Given the description of an element on the screen output the (x, y) to click on. 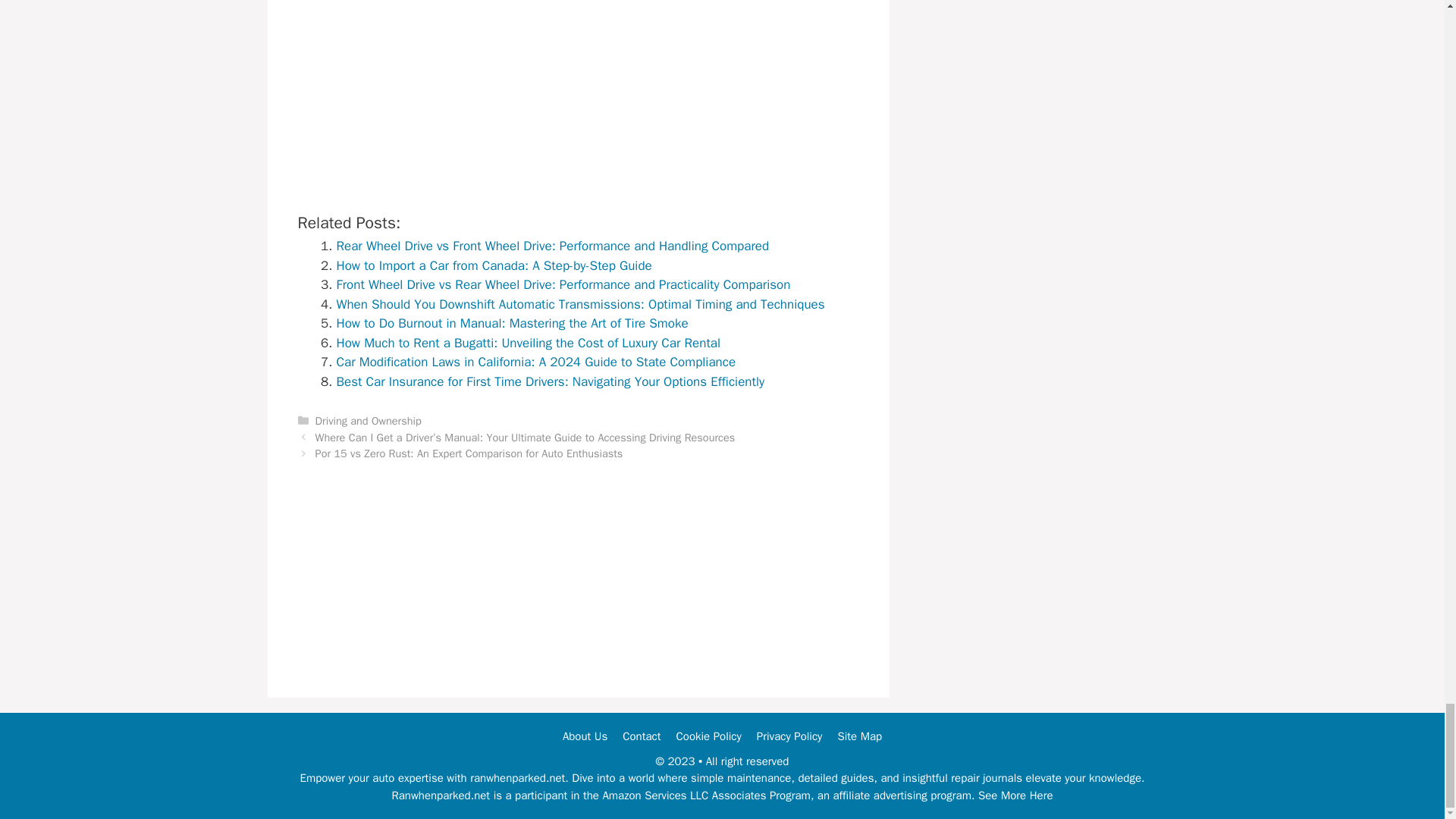
How to Do Burnout in Manual: Mastering the Art of Tire Smoke (512, 323)
How to Import a Car from Canada: A Step-by-Step Guide (494, 265)
